Given the description of an element on the screen output the (x, y) to click on. 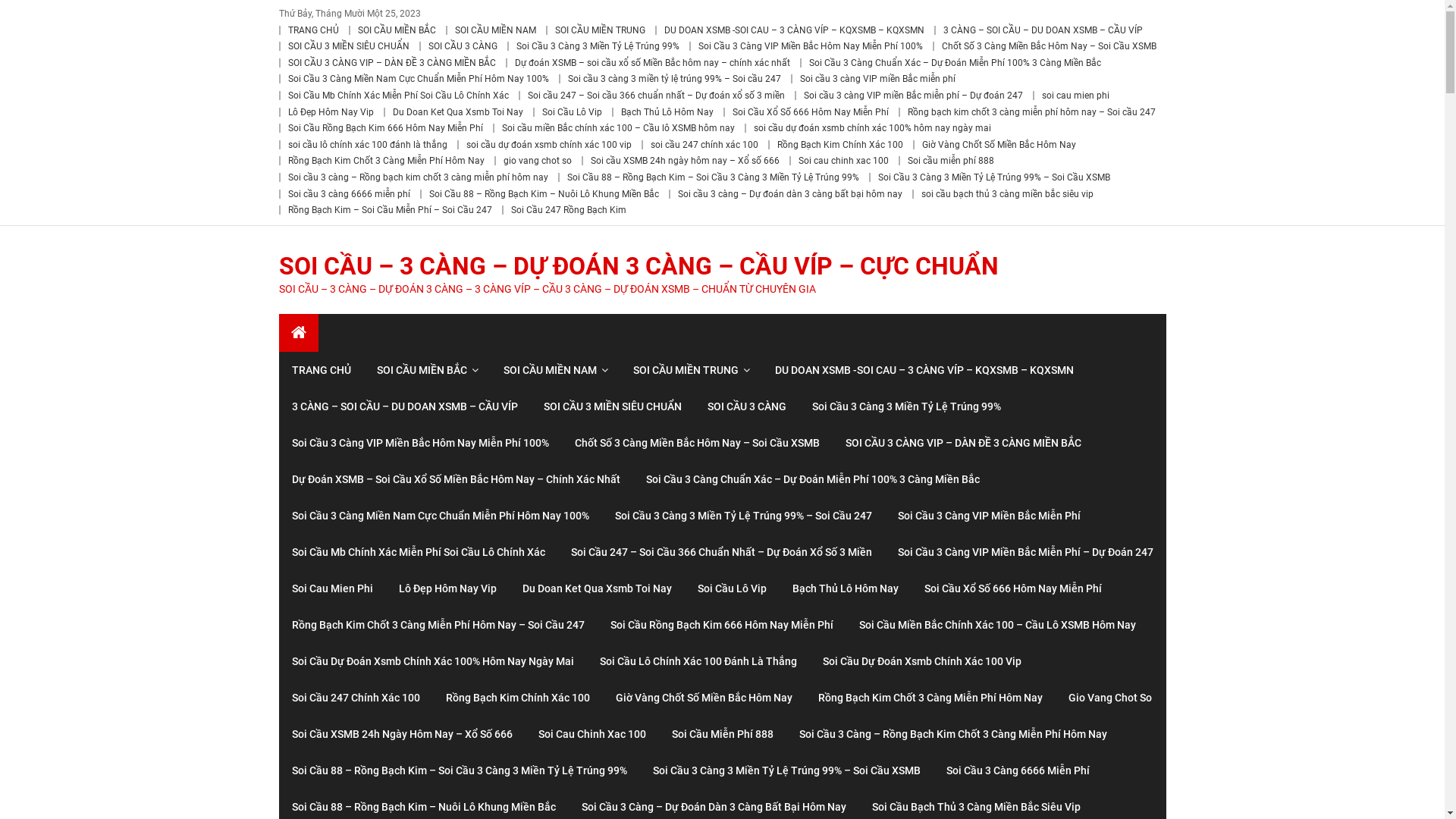
Du Doan Ket Qua Xsmb Toi Nay Element type: text (597, 588)
Soi Cau Chinh Xac 100 Element type: text (591, 733)
Soi Cau Mien Phi Element type: text (332, 588)
Skip to content Element type: text (35, 9)
gio vang chot so Element type: text (537, 160)
Soi cau chinh xac 100 Element type: text (842, 160)
Gio Vang Chot So Element type: text (1110, 697)
soi cau mien phi Element type: text (1075, 95)
Du Doan Ket Qua Xsmb Toi Nay Element type: text (457, 111)
